Given the description of an element on the screen output the (x, y) to click on. 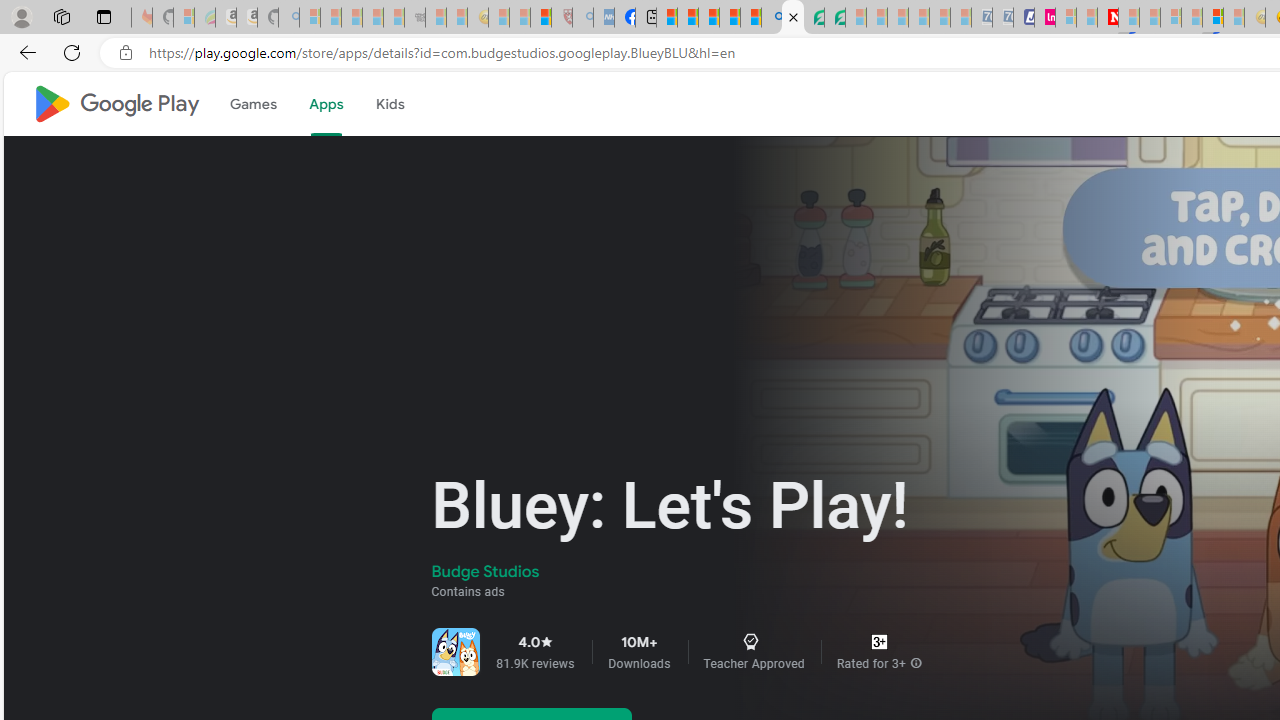
Bluey: Let's Play! - Apps on Google Play (792, 17)
list of asthma inhalers uk - Search - Sleeping (582, 17)
Cheap Hotels - Save70.com - Sleeping (1002, 17)
google - Search (771, 17)
Apps (325, 104)
The Weather Channel - MSN - Sleeping (351, 17)
Class: B6ueub (750, 641)
Cheap Car Rentals - Save70.com - Sleeping (981, 17)
